Given the description of an element on the screen output the (x, y) to click on. 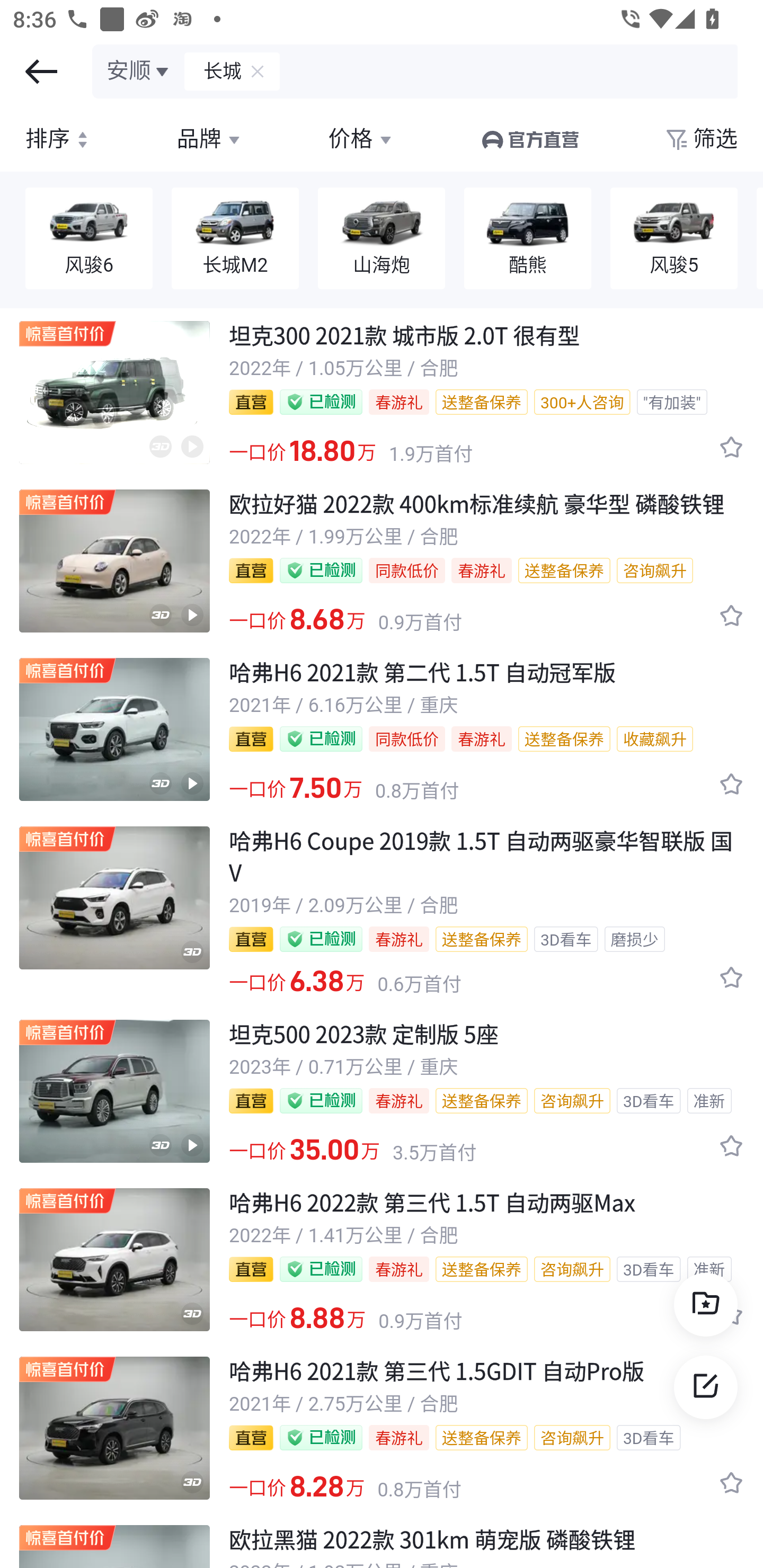
安顺 (139, 70)
长城 (213, 70)
排序 (59, 139)
品牌 (210, 139)
价格 (361, 139)
官方直营 (528, 139)
筛选 (700, 139)
风骏6 (88, 239)
长城M2 (235, 239)
山海炮 (381, 239)
酷熊 (527, 239)
风骏5 (673, 239)
